Given the description of an element on the screen output the (x, y) to click on. 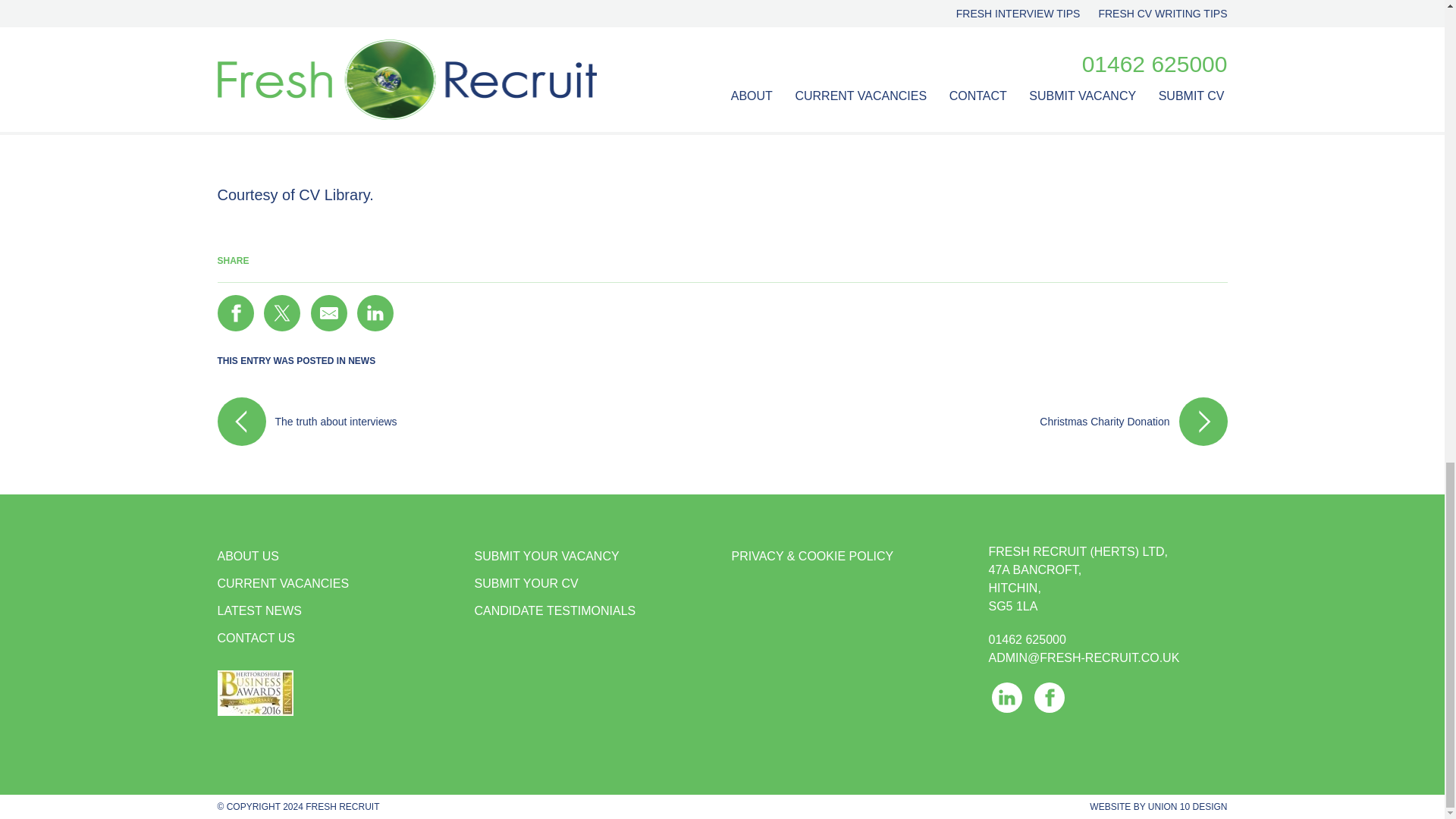
Christmas Charity Donation (974, 421)
CONTACT US (335, 637)
ABOUT US (335, 556)
CURRENT VACANCIES (335, 583)
SUBMIT YOUR CV (593, 583)
01462 625000 (1026, 639)
CANDIDATE TESTIMONIALS (593, 610)
The truth about interviews (469, 421)
The LinkedIn page for Fresh Recruit (1006, 697)
The Facebook page for Fresh Recruit (1048, 697)
